Given the description of an element on the screen output the (x, y) to click on. 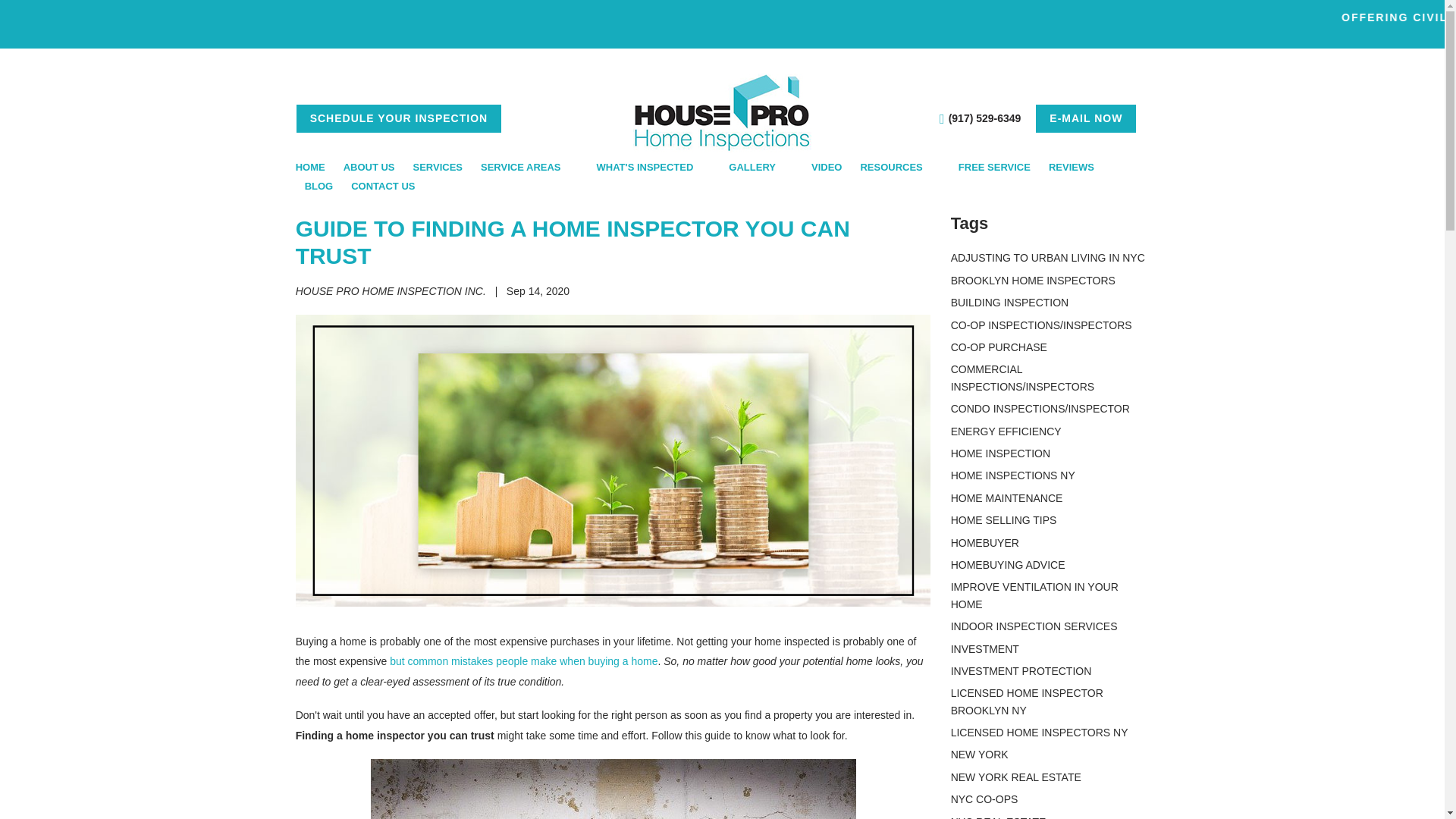
HOME (314, 167)
SERVICE AREAS (528, 167)
BLOG (318, 185)
CONTACT US (382, 185)
VIDEO (826, 167)
SERVICES (437, 167)
RESOURCES (899, 167)
SCHEDULE YOUR INSPECTION (398, 118)
ABOUT US (369, 167)
WHAT'S INSPECTED (654, 167)
